Given the description of an element on the screen output the (x, y) to click on. 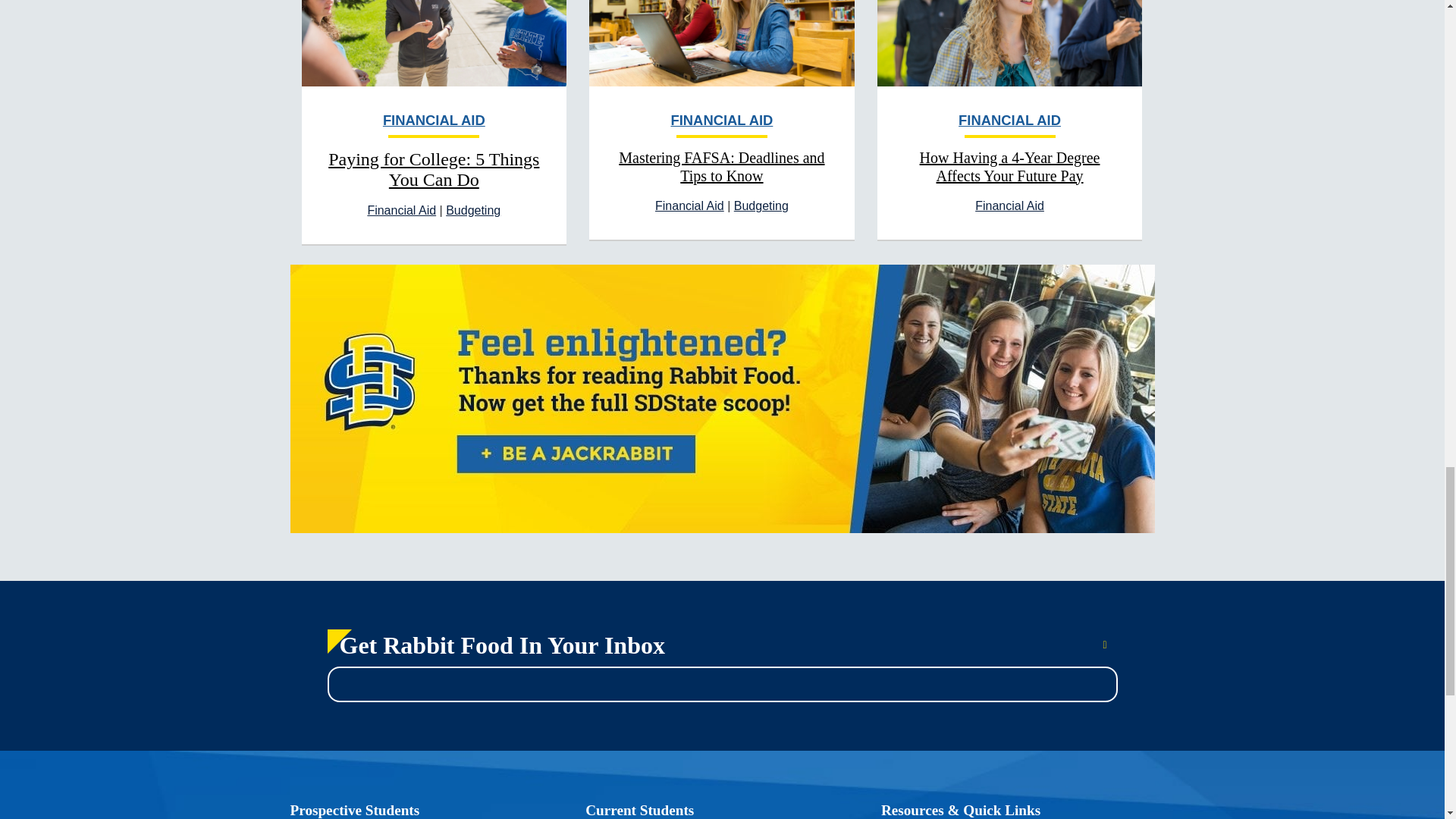
FINANCIAL AID (1009, 125)
How Having a 4-Year Degree Affects Your Future Pay (1010, 166)
Mastering FAFSA: Deadlines and Tips to Know (721, 166)
FINANCIAL AID (720, 125)
Budgeting (472, 210)
Financial Aid (400, 210)
Subscribe (1101, 644)
Financial Aid (1009, 205)
Subscribe (1101, 644)
FINANCIAL AID (434, 125)
Budgeting (761, 205)
Paying for College: 5 Things You Can Do (433, 169)
Financial Aid (689, 205)
